Given the description of an element on the screen output the (x, y) to click on. 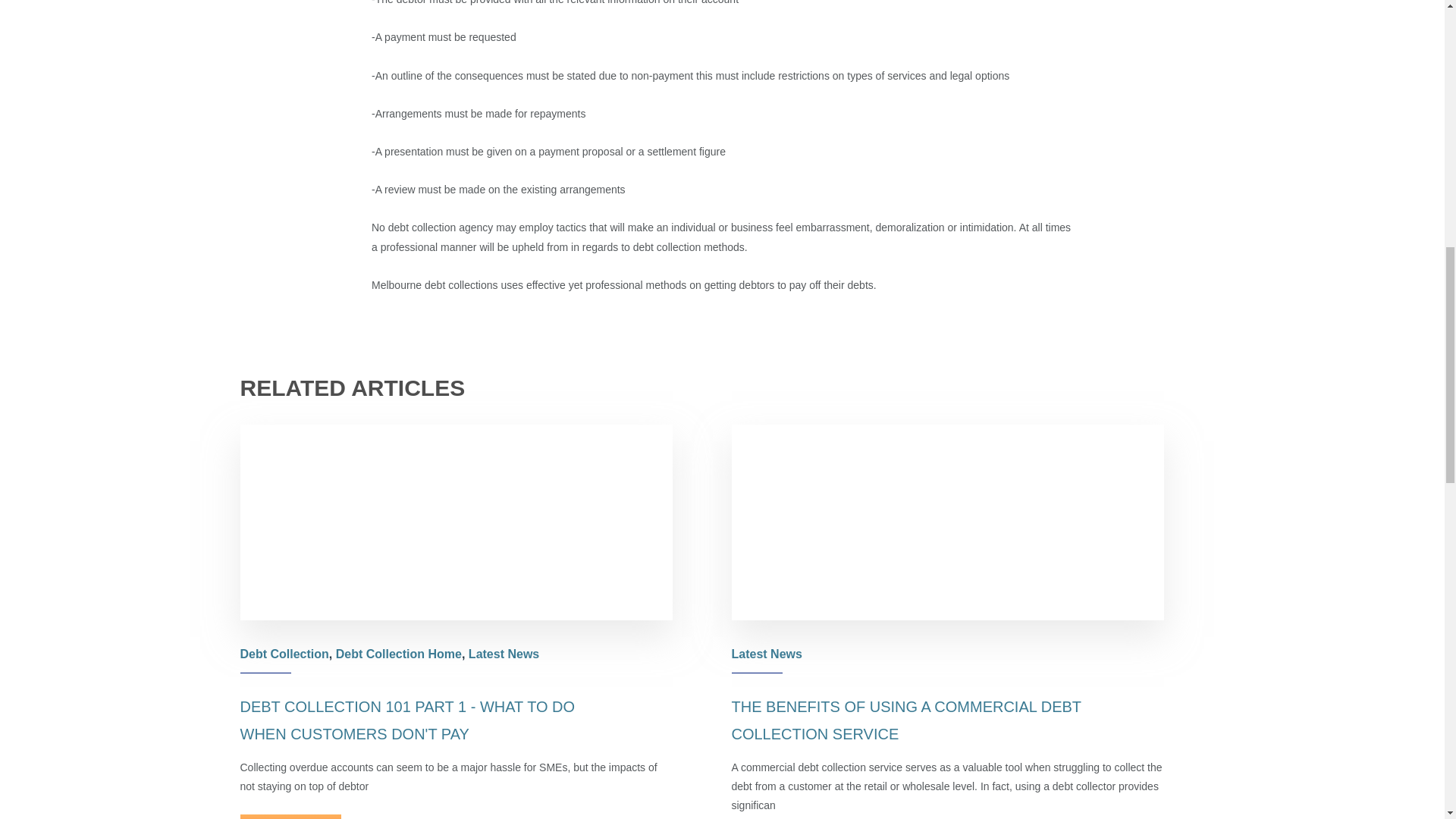
Latest News (503, 654)
Debt Collection Home (398, 654)
Debt Collection (284, 654)
THE BENEFITS OF USING A COMMERCIAL DEBT COLLECTION SERVICE (905, 720)
Read more (290, 816)
Latest News (766, 654)
